Given the description of an element on the screen output the (x, y) to click on. 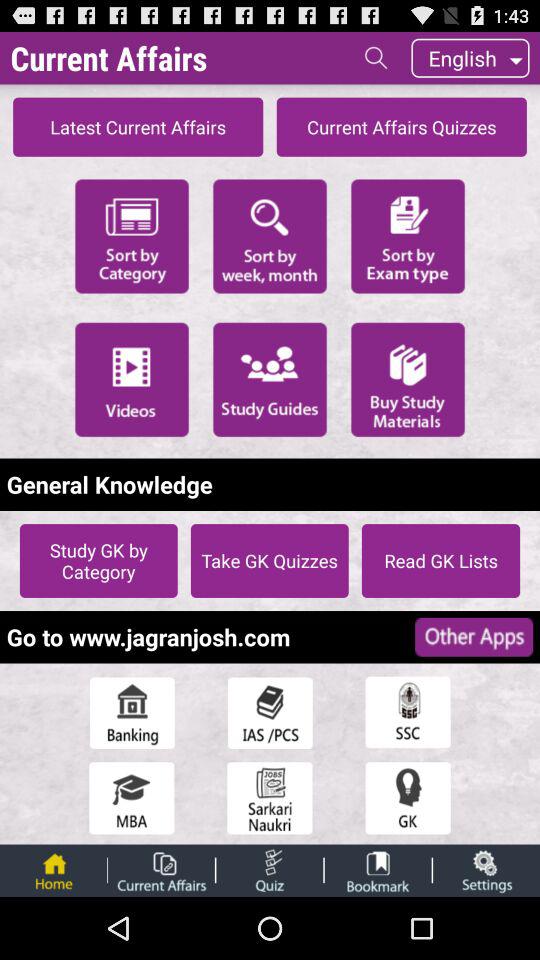
go to app home (53, 870)
